Given the description of an element on the screen output the (x, y) to click on. 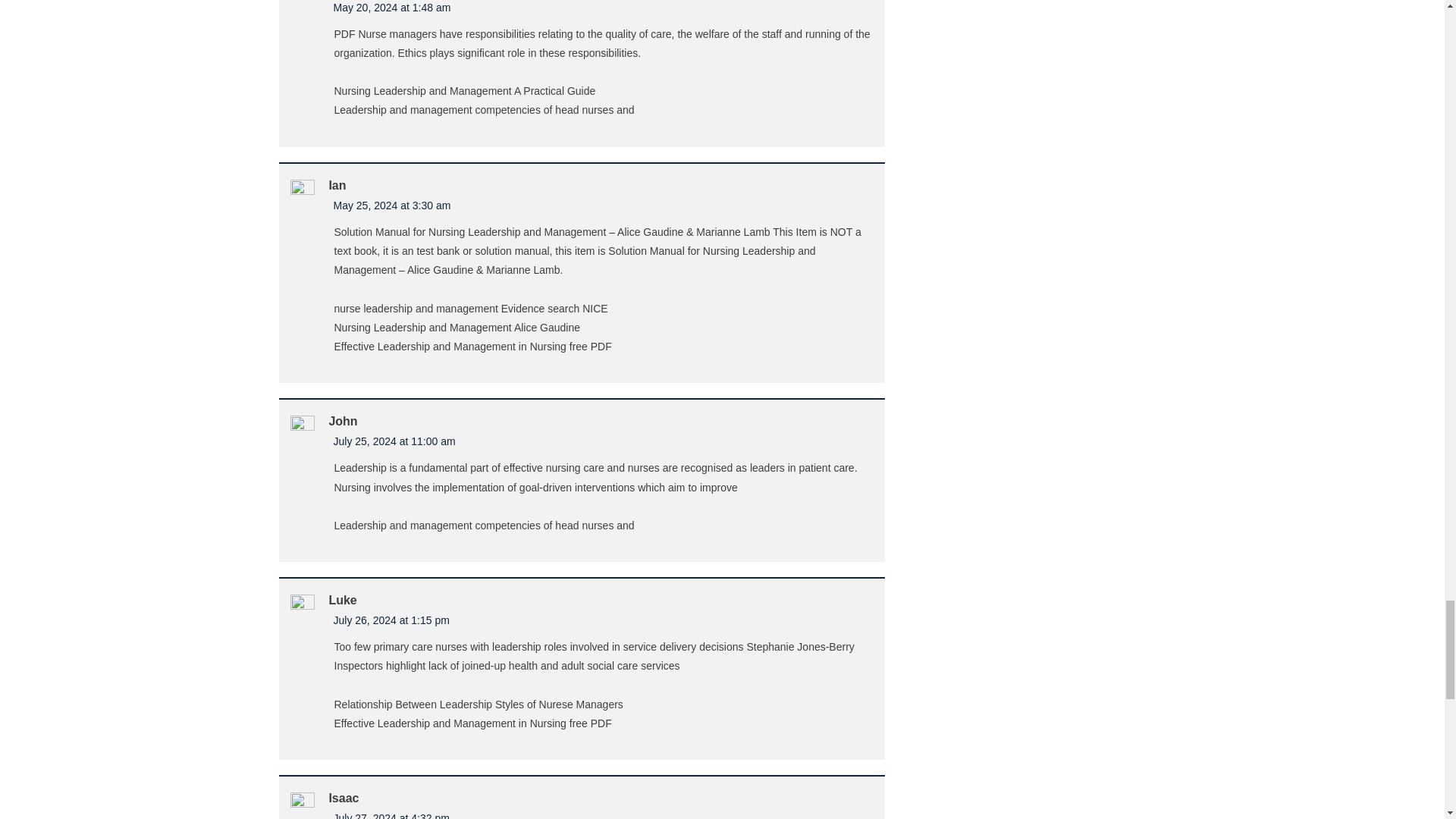
July 26, 2024 at 1:15 pm (391, 620)
July 25, 2024 at 11:00 am (394, 440)
May 25, 2024 at 3:30 am (392, 205)
May 20, 2024 at 1:48 am (392, 7)
